Given the description of an element on the screen output the (x, y) to click on. 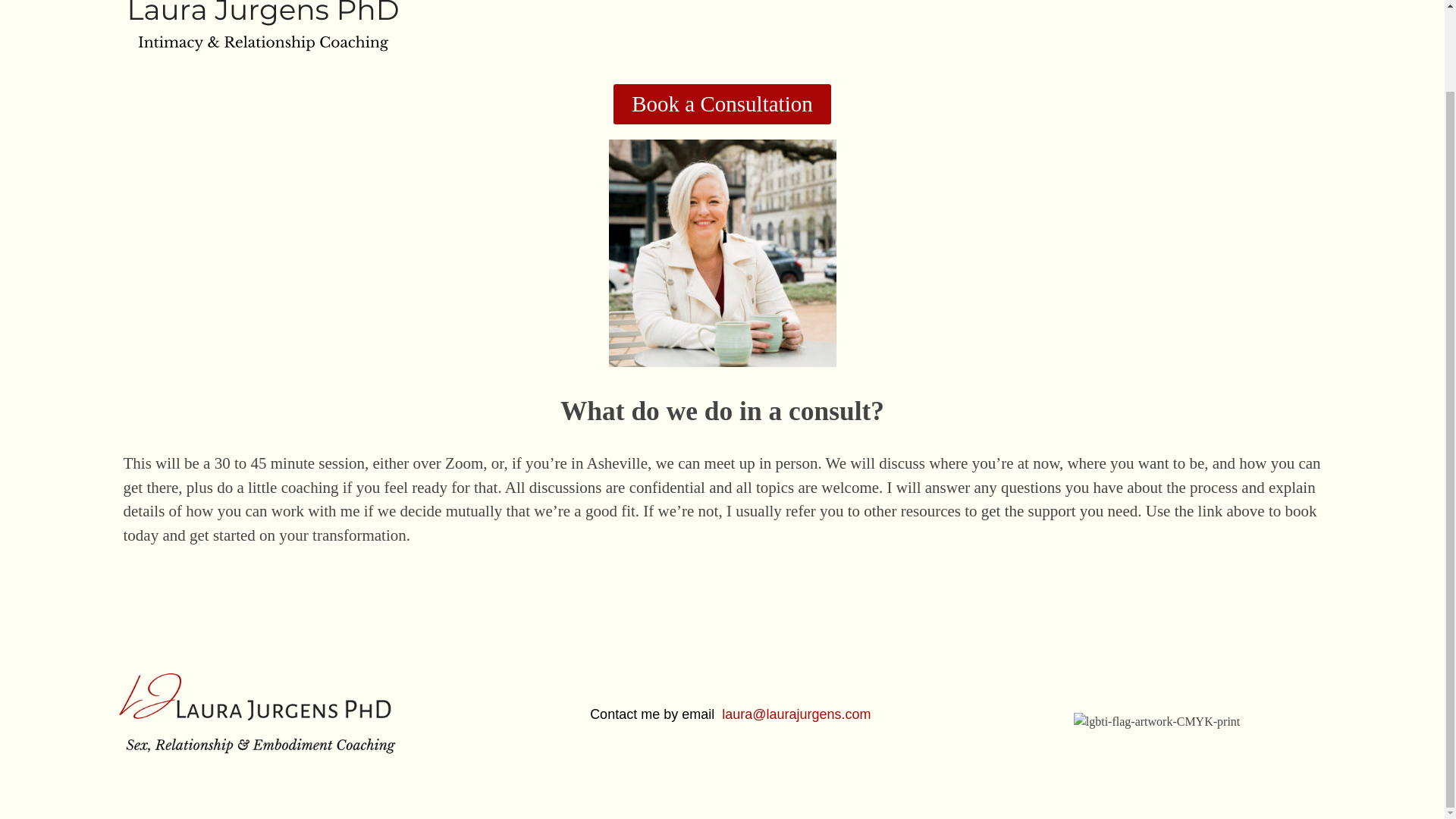
Laura Jurgens (262, 35)
Laura Jurgens (177, 79)
Book a Consultation (720, 104)
Laura Jurgens (177, 79)
lgbti-flag-artwork-CMYK-print (1157, 721)
